Given the description of an element on the screen output the (x, y) to click on. 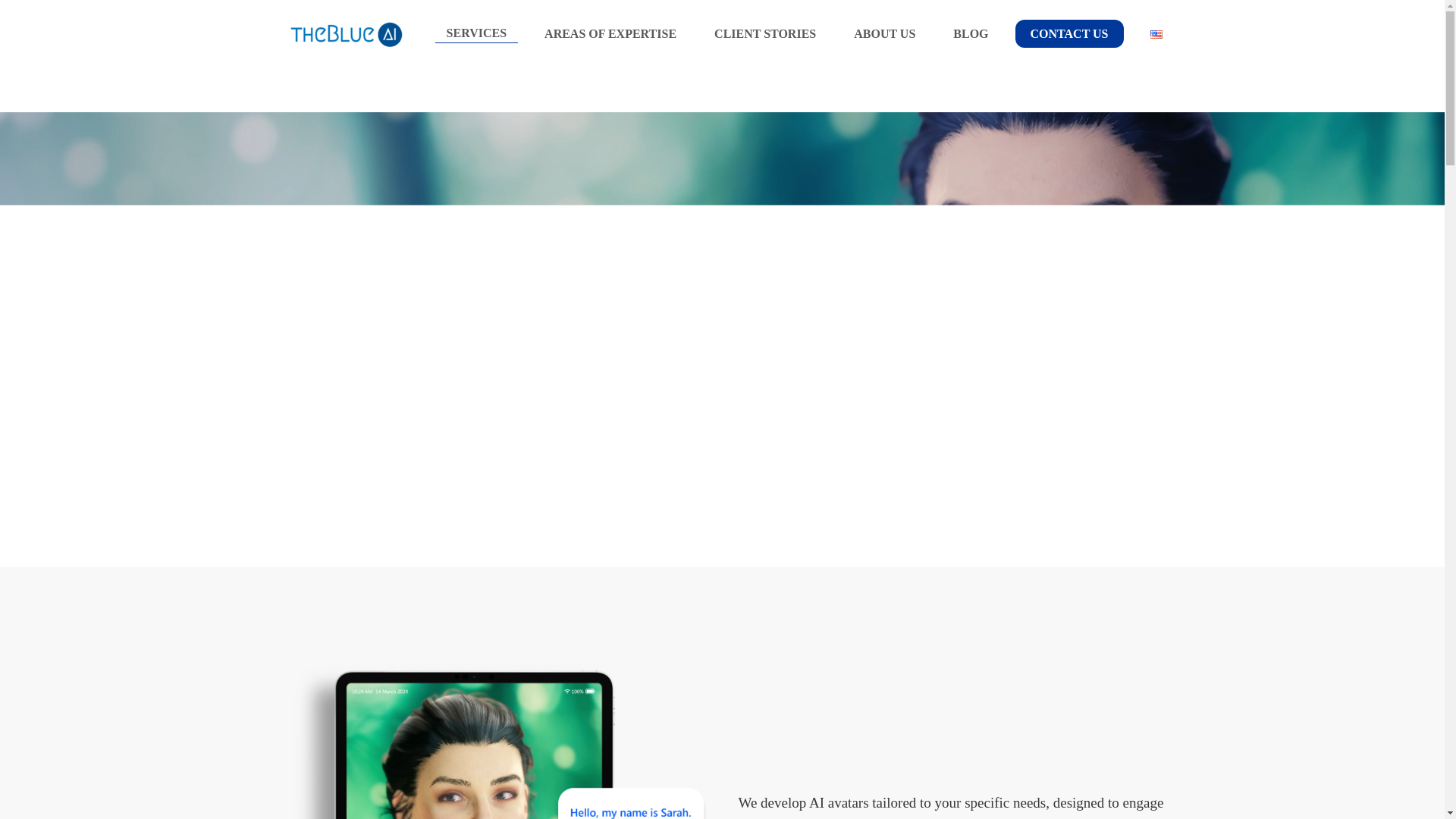
AREAS OF EXPERTISE (609, 33)
CONTACT US (1069, 33)
ABOUT US (884, 33)
BLOG (970, 33)
CLIENT STORIES (765, 33)
SERVICES (476, 33)
